Given the description of an element on the screen output the (x, y) to click on. 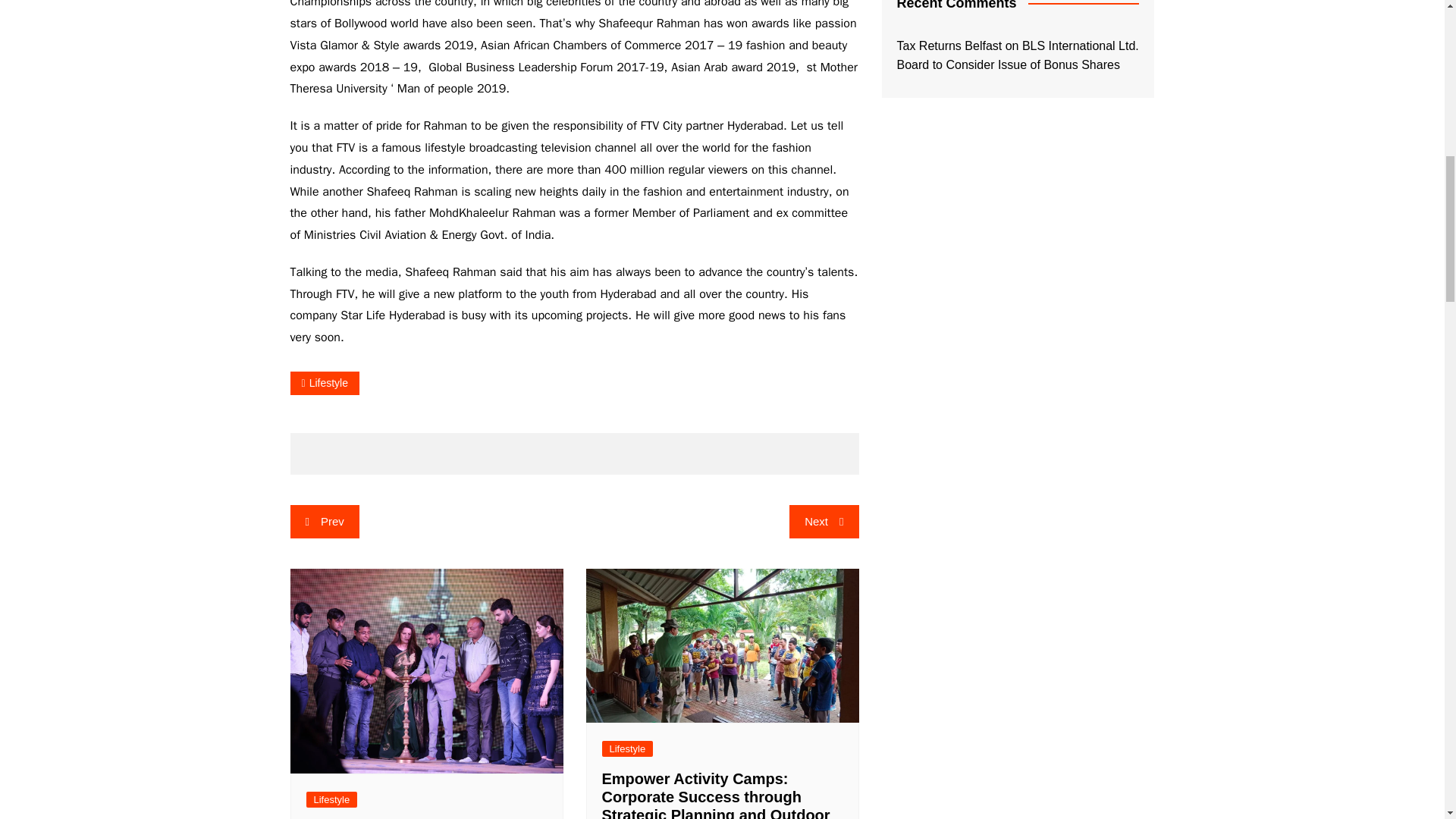
Lifestyle (331, 799)
Lifestyle (627, 748)
Lifestyle (323, 382)
Prev (323, 521)
Next (824, 521)
